Given the description of an element on the screen output the (x, y) to click on. 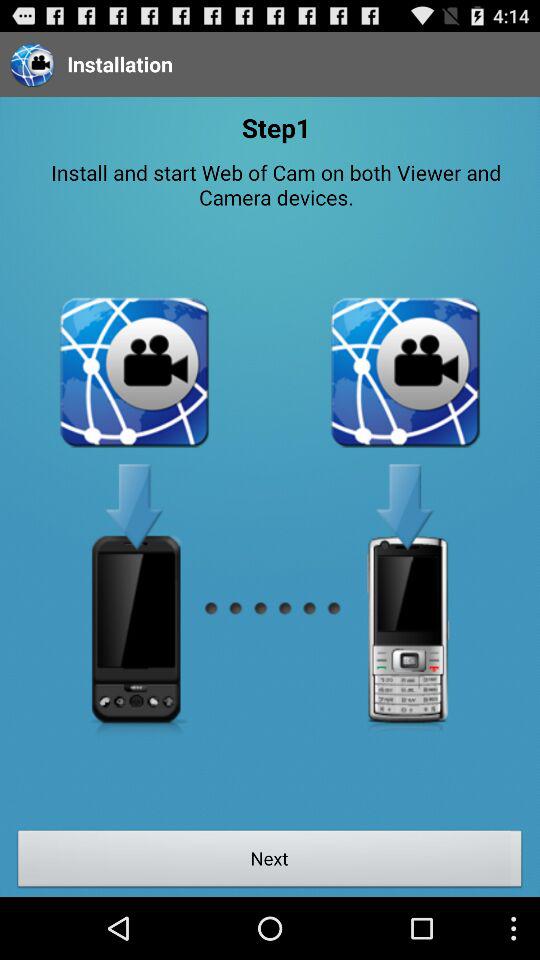
select next (269, 861)
